Given the description of an element on the screen output the (x, y) to click on. 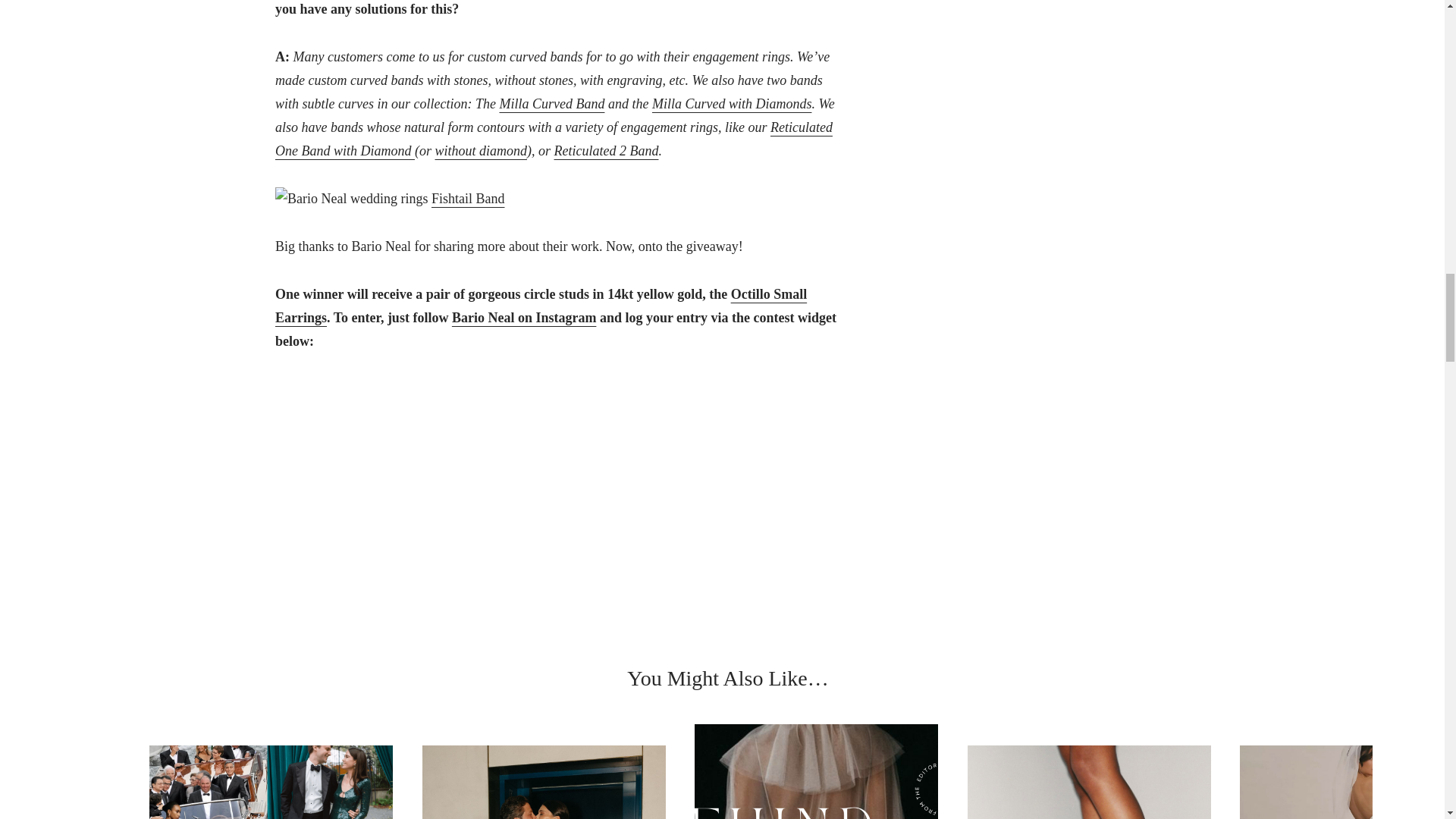
The best places to buy unique wedding shoes in 2024 (1089, 782)
What to wear to a black tie optional wedding (271, 782)
